Given the description of an element on the screen output the (x, y) to click on. 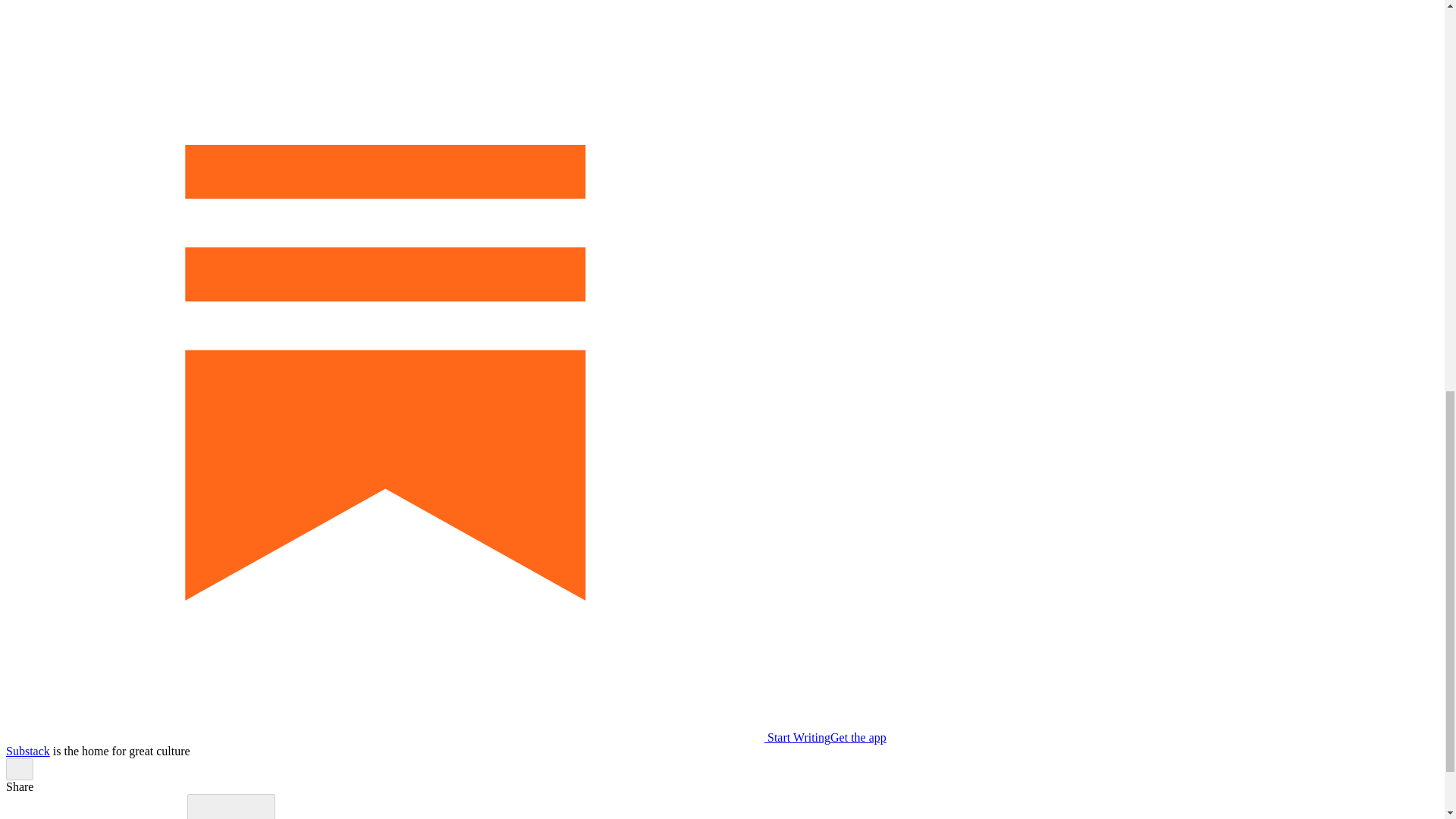
Substack (27, 750)
Get the app (857, 737)
Start Writing (417, 737)
